Given the description of an element on the screen output the (x, y) to click on. 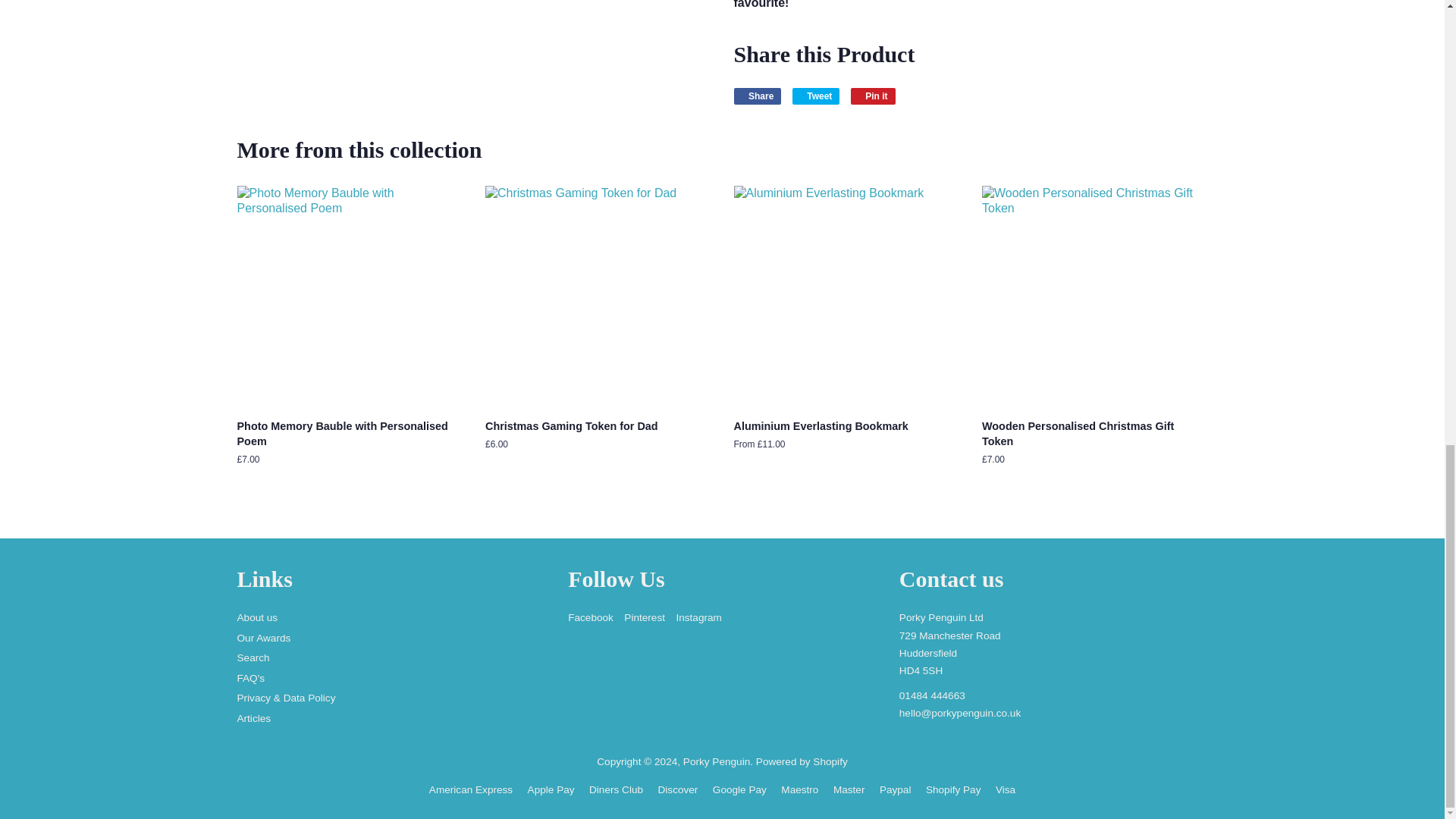
Share on Facebook (757, 95)
Pin on Pinterest (872, 95)
Porky Penguin on Facebook (589, 617)
Porky Penguin on Instagram (697, 617)
Porky Penguin on Pinterest (644, 617)
Tweet on Twitter (816, 95)
